Given the description of an element on the screen output the (x, y) to click on. 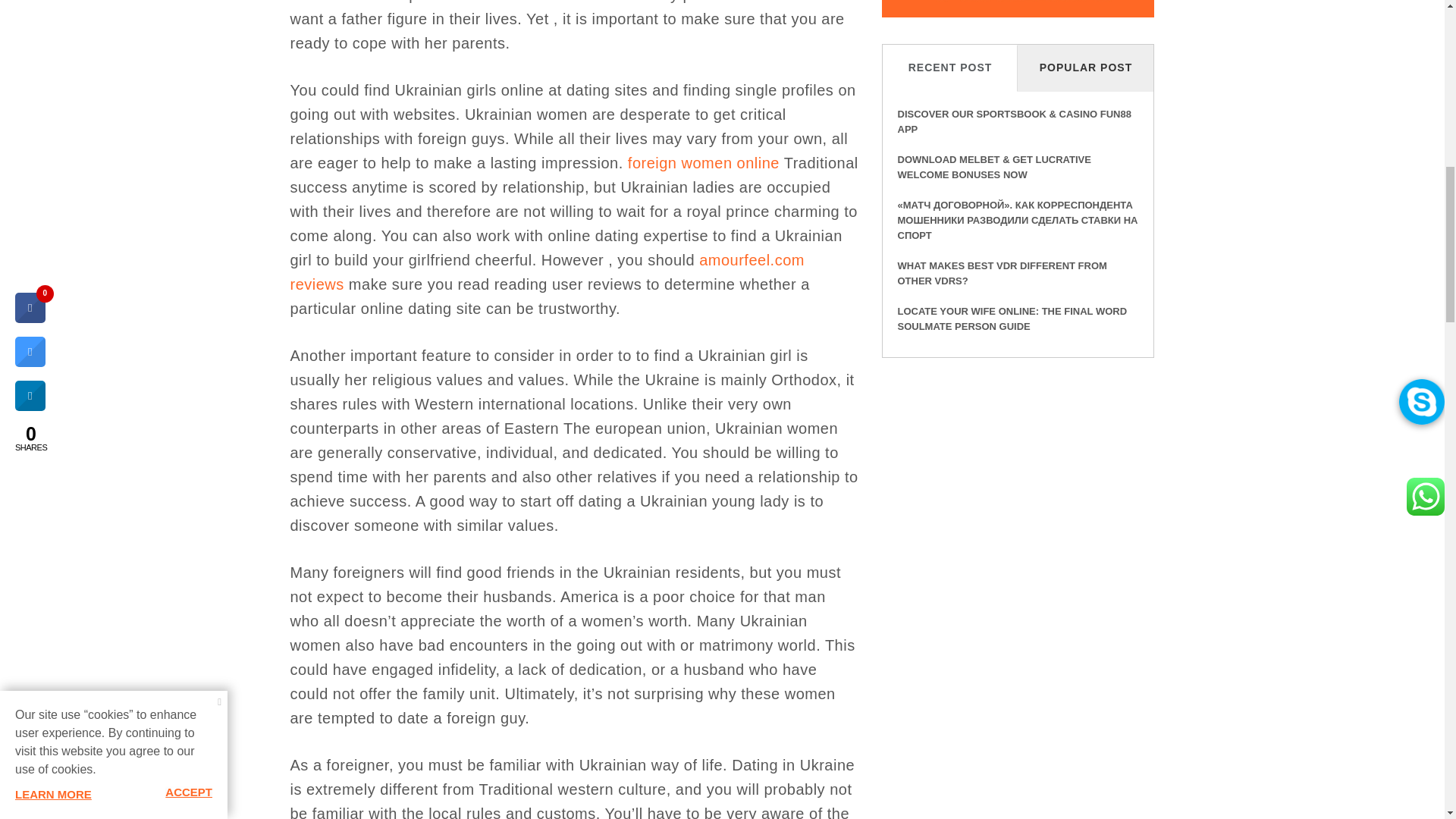
amourfeel.com reviews (546, 271)
foreign women online (702, 162)
